Given the description of an element on the screen output the (x, y) to click on. 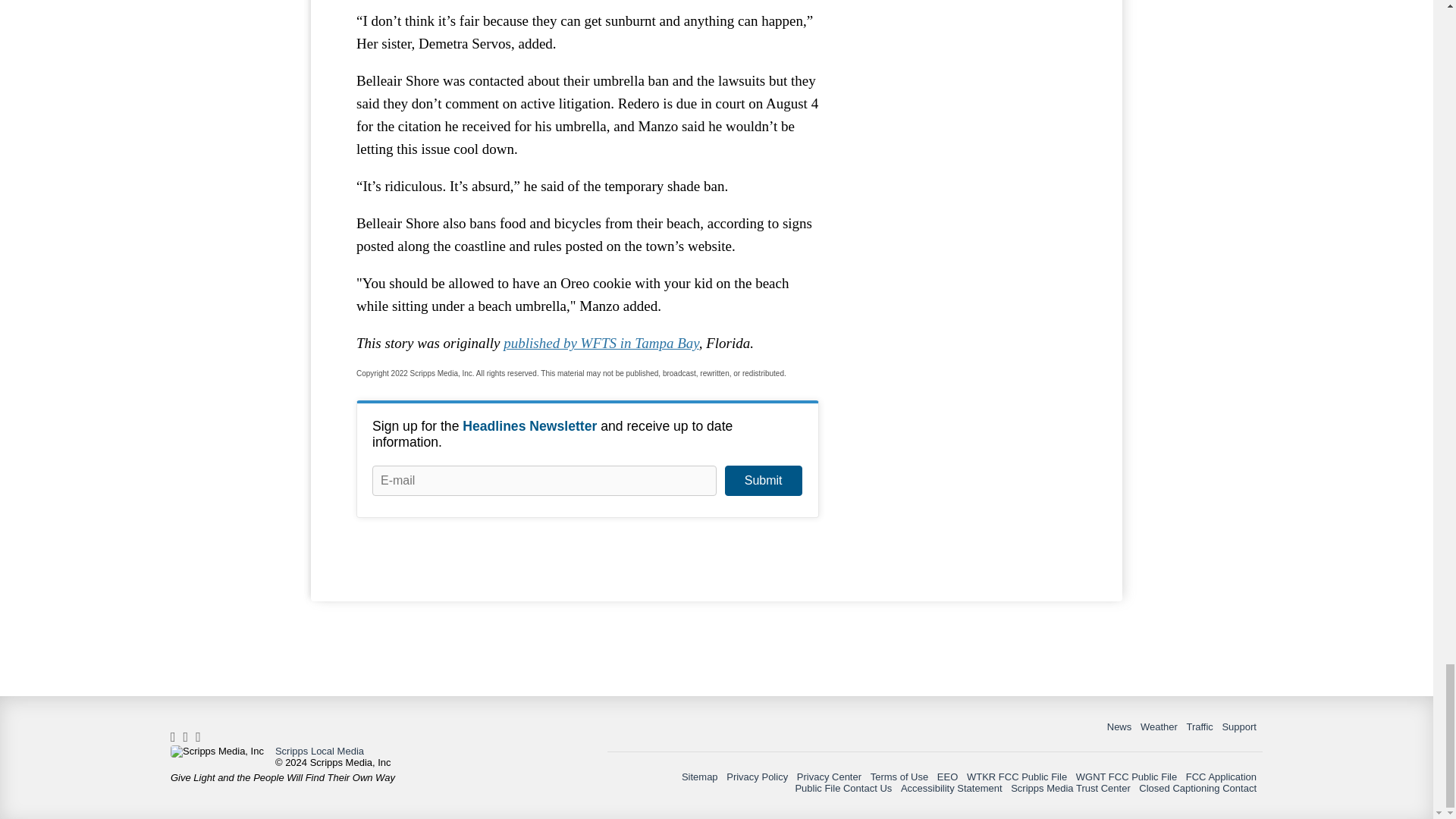
Submit (763, 481)
